Given the description of an element on the screen output the (x, y) to click on. 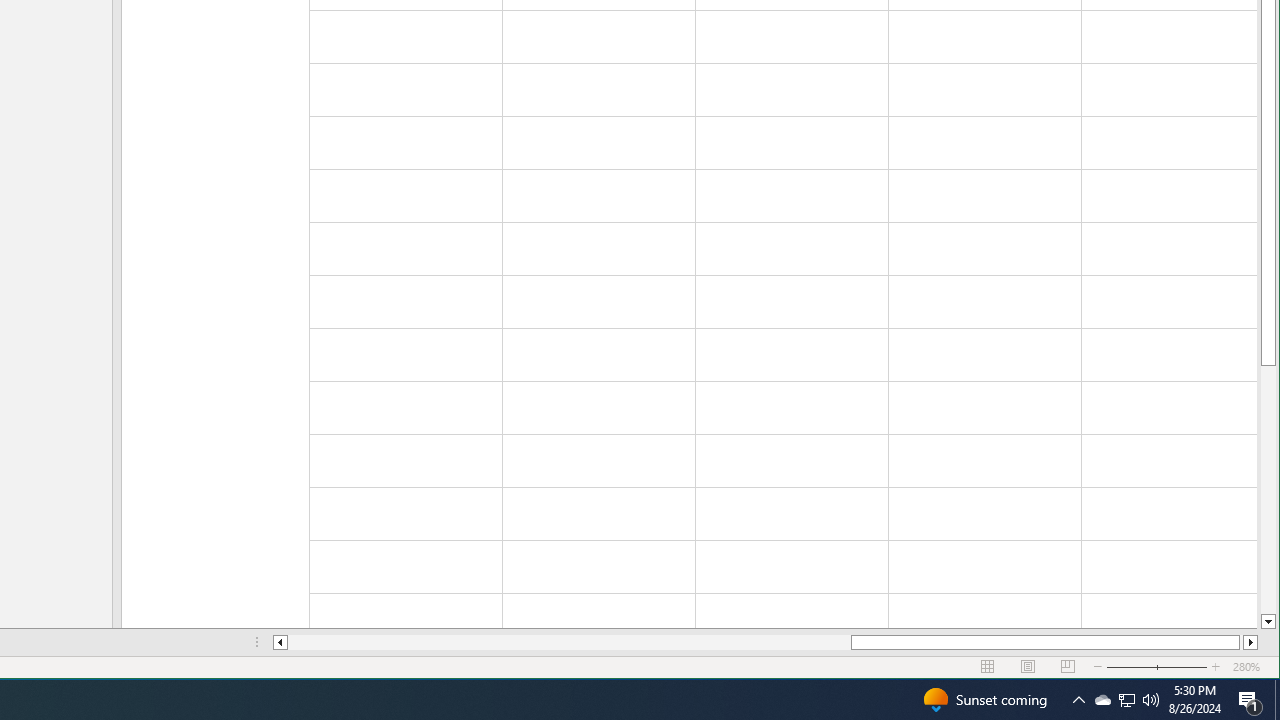
Sunset coming (984, 699)
Notification Chevron (1126, 699)
